Given the description of an element on the screen output the (x, y) to click on. 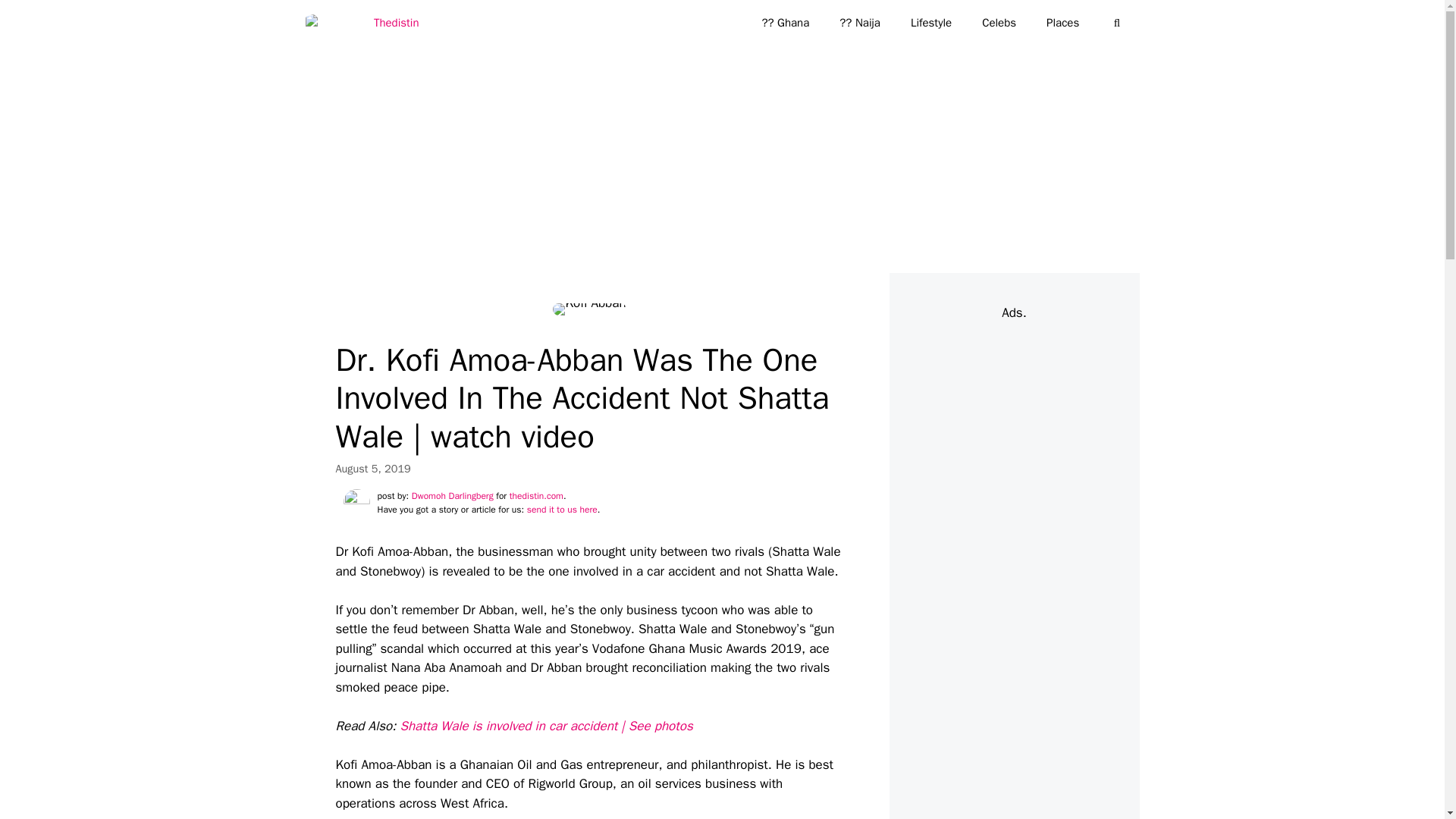
Celebs (998, 22)
Lifestyle (930, 22)
?? Ghana (784, 22)
Search (35, 18)
Places (1062, 22)
thedistin.com (536, 495)
Thedistin (365, 22)
send it to us here (561, 509)
?? Naija (859, 22)
